Given the description of an element on the screen output the (x, y) to click on. 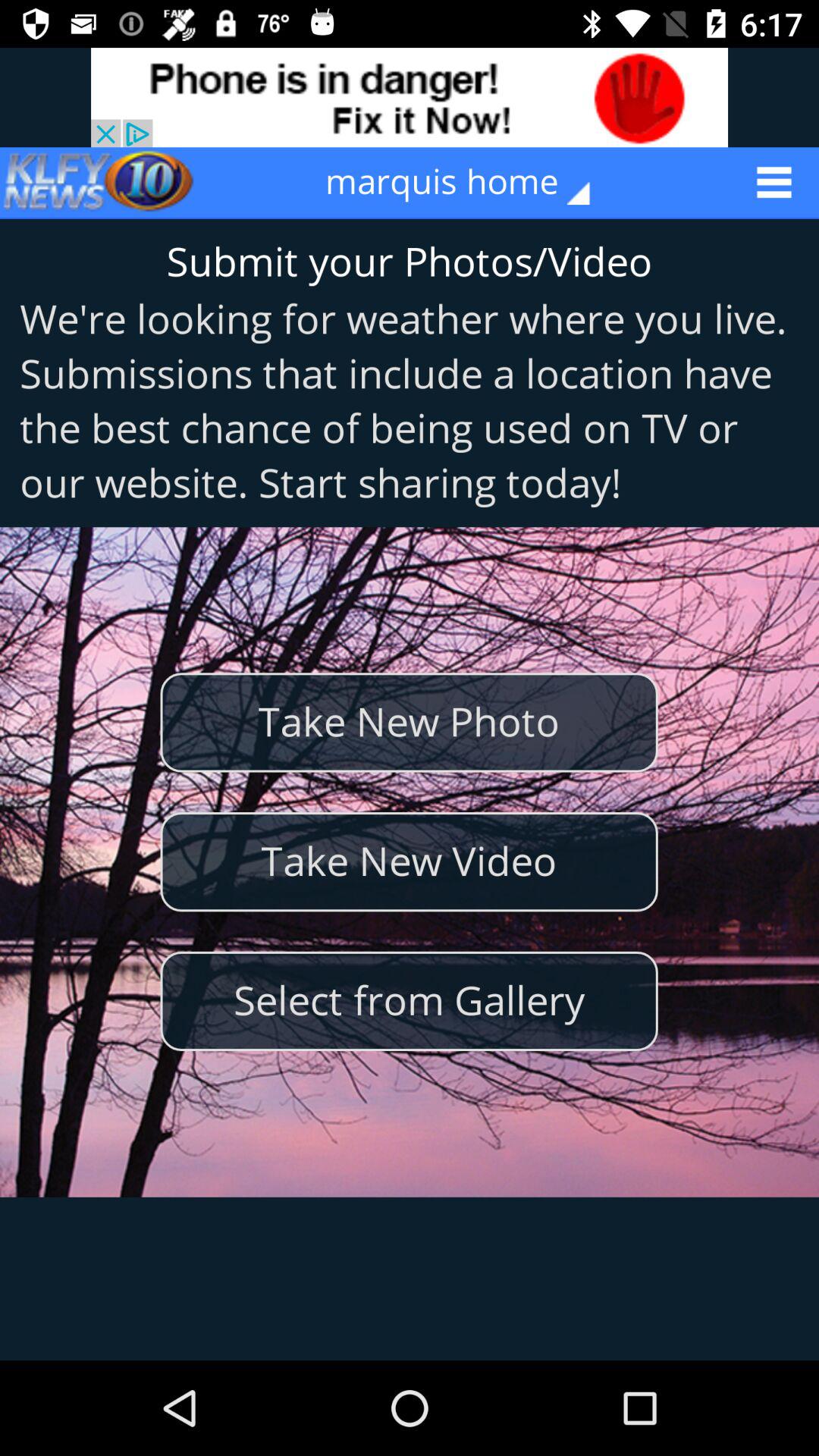
swipe until the select from gallery icon (409, 1001)
